Given the description of an element on the screen output the (x, y) to click on. 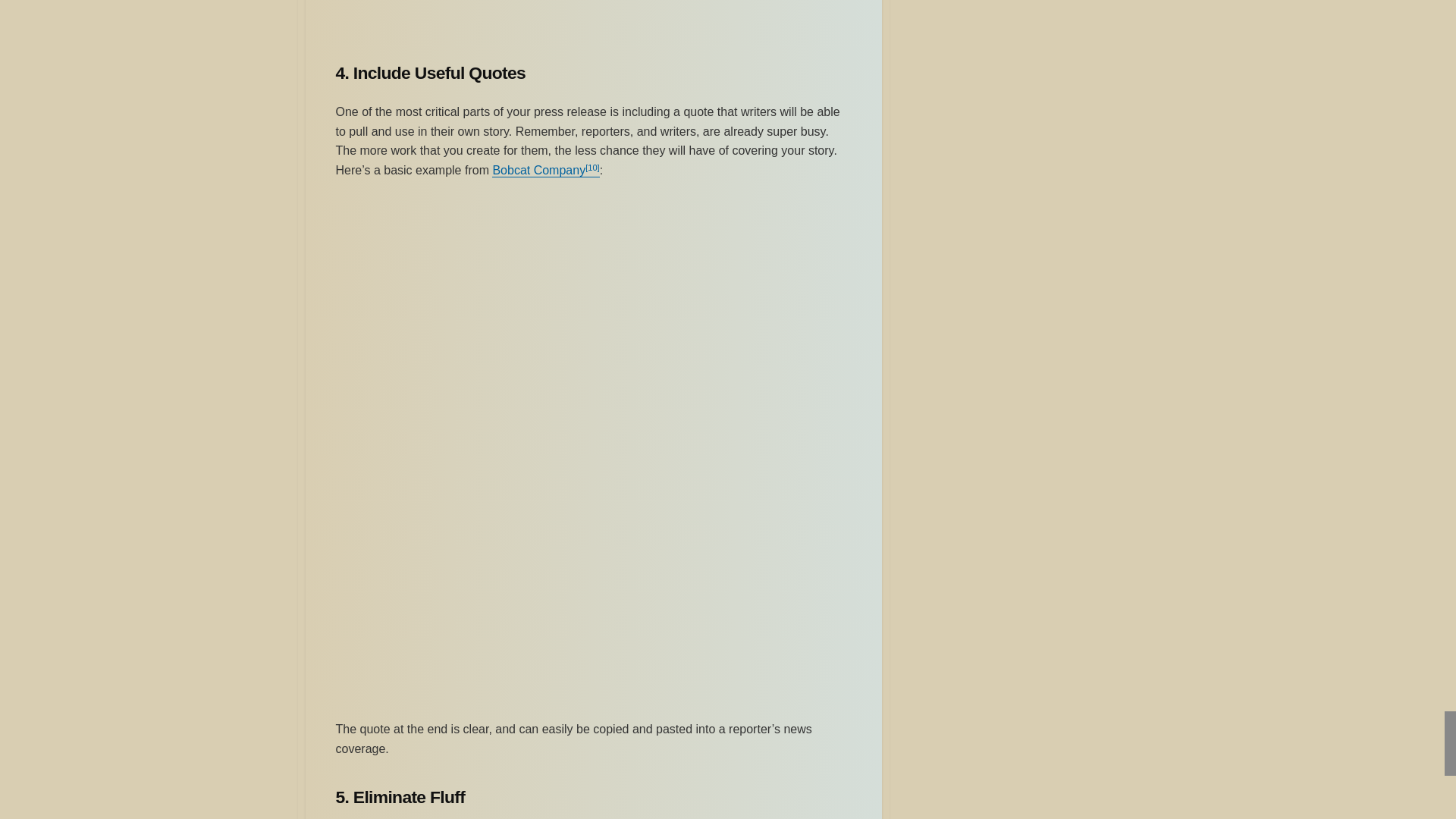
Bobcat Company (538, 169)
